Given the description of an element on the screen output the (x, y) to click on. 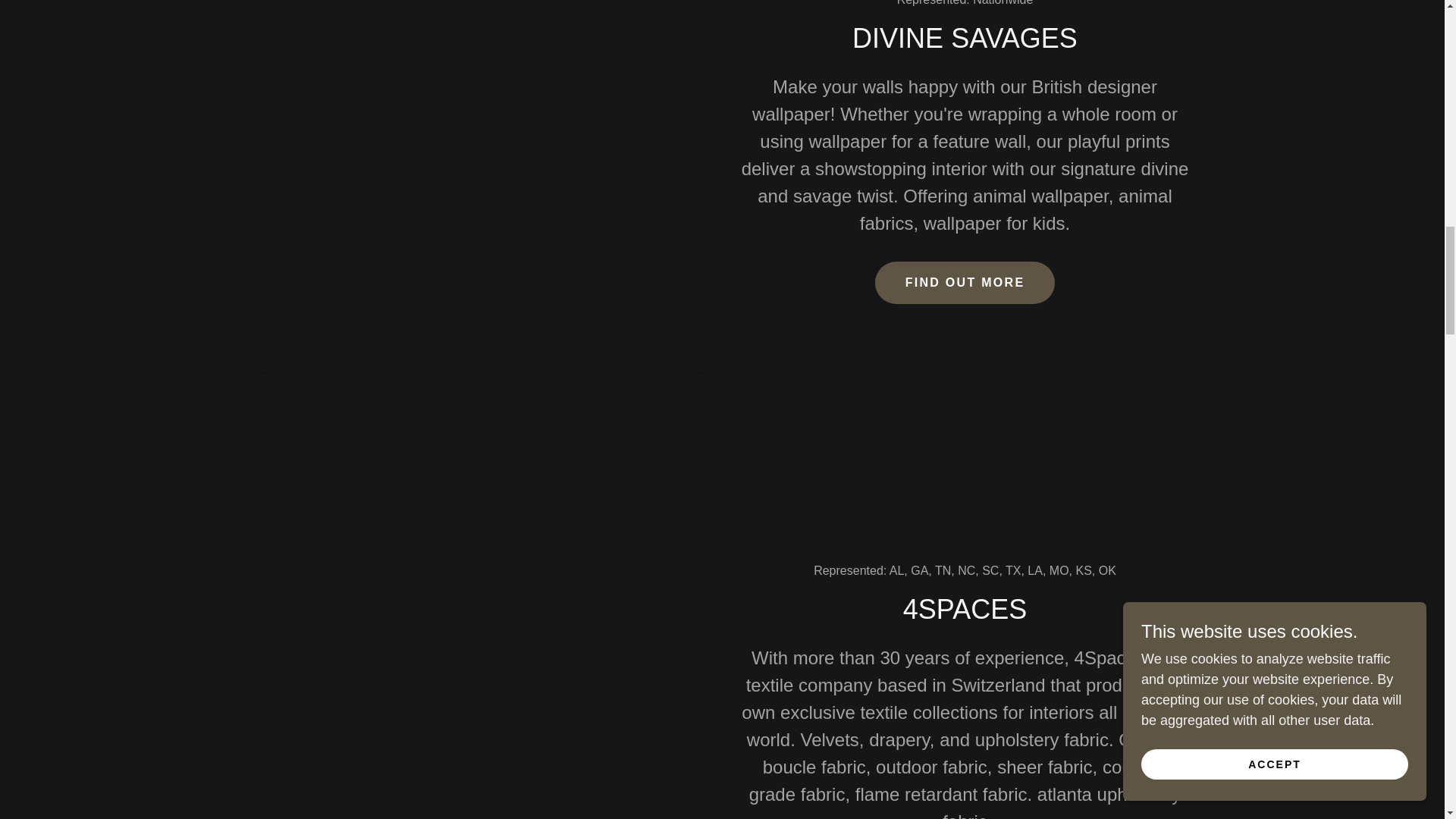
FIND OUT MORE (965, 282)
